Given the description of an element on the screen output the (x, y) to click on. 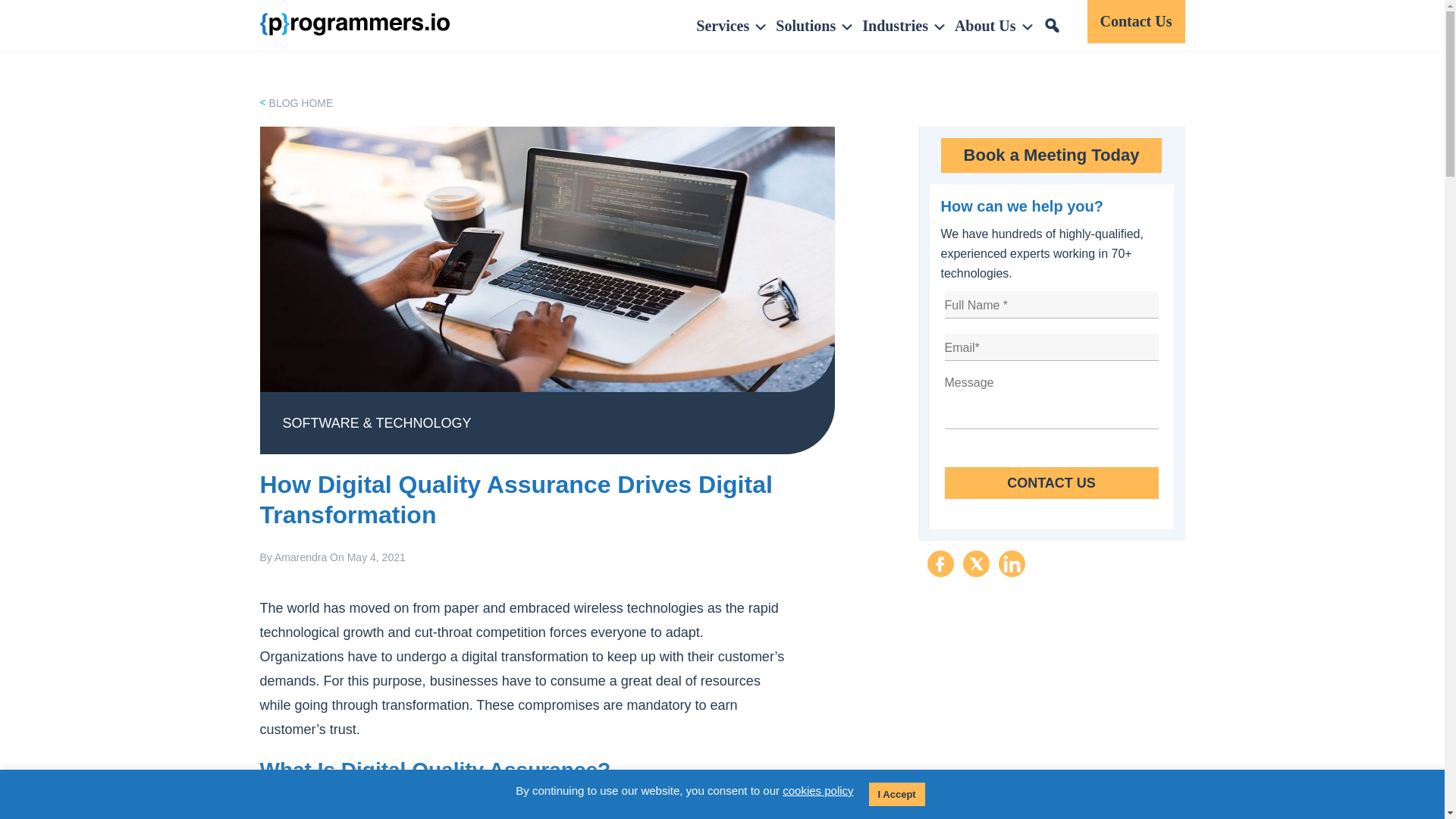
Linkedin (1011, 563)
Twitter (976, 563)
Services (728, 25)
Contact Us (1051, 482)
Facebook (939, 563)
Programmers.io (353, 23)
Solutions (811, 25)
